Given the description of an element on the screen output the (x, y) to click on. 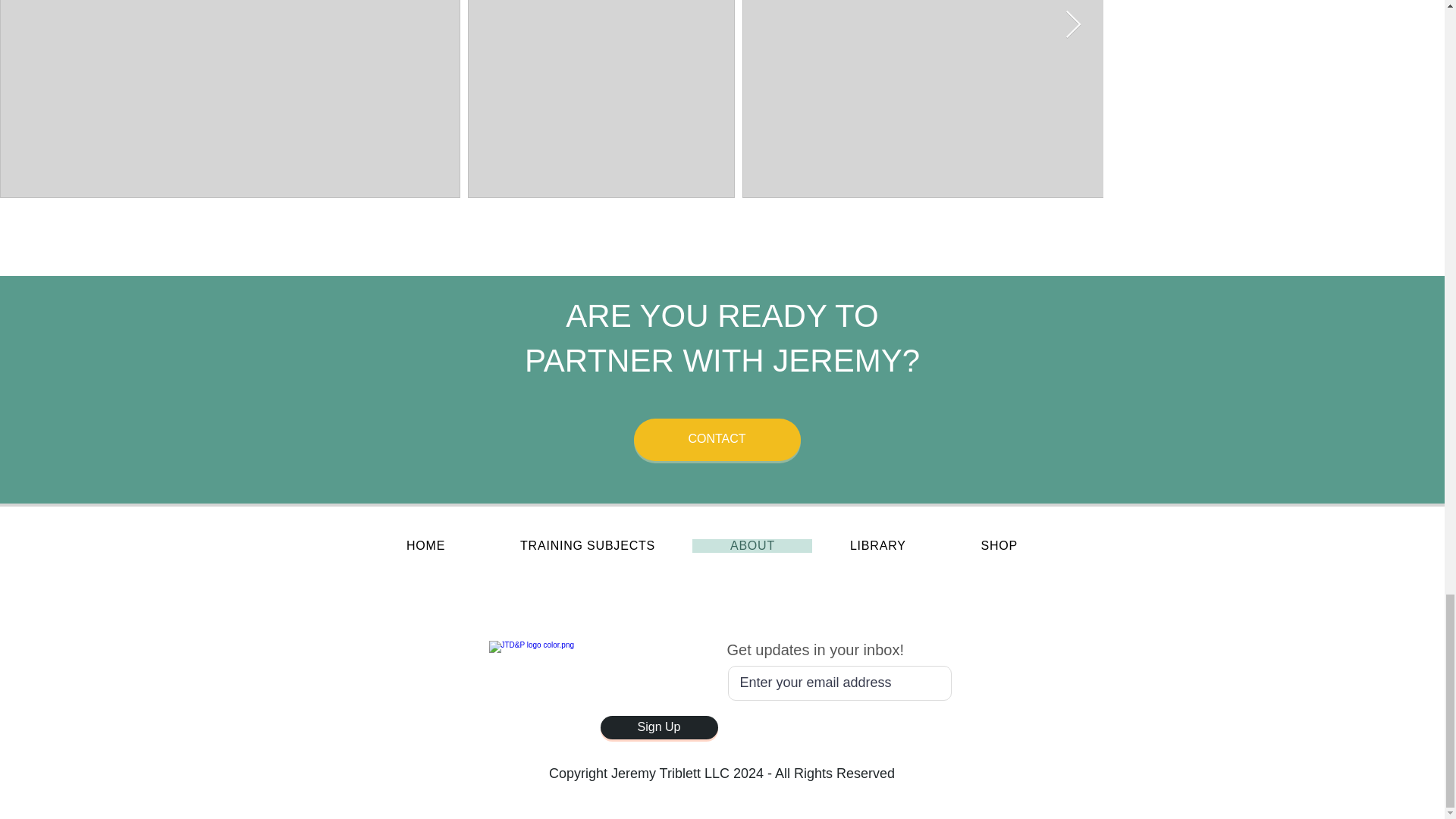
Sign Up (658, 727)
LIBRARY (877, 545)
TRAINING SUBJECTS (588, 545)
SHOP (998, 545)
CONTACT (716, 439)
HOME (424, 545)
ABOUT (752, 545)
